Given the description of an element on the screen output the (x, y) to click on. 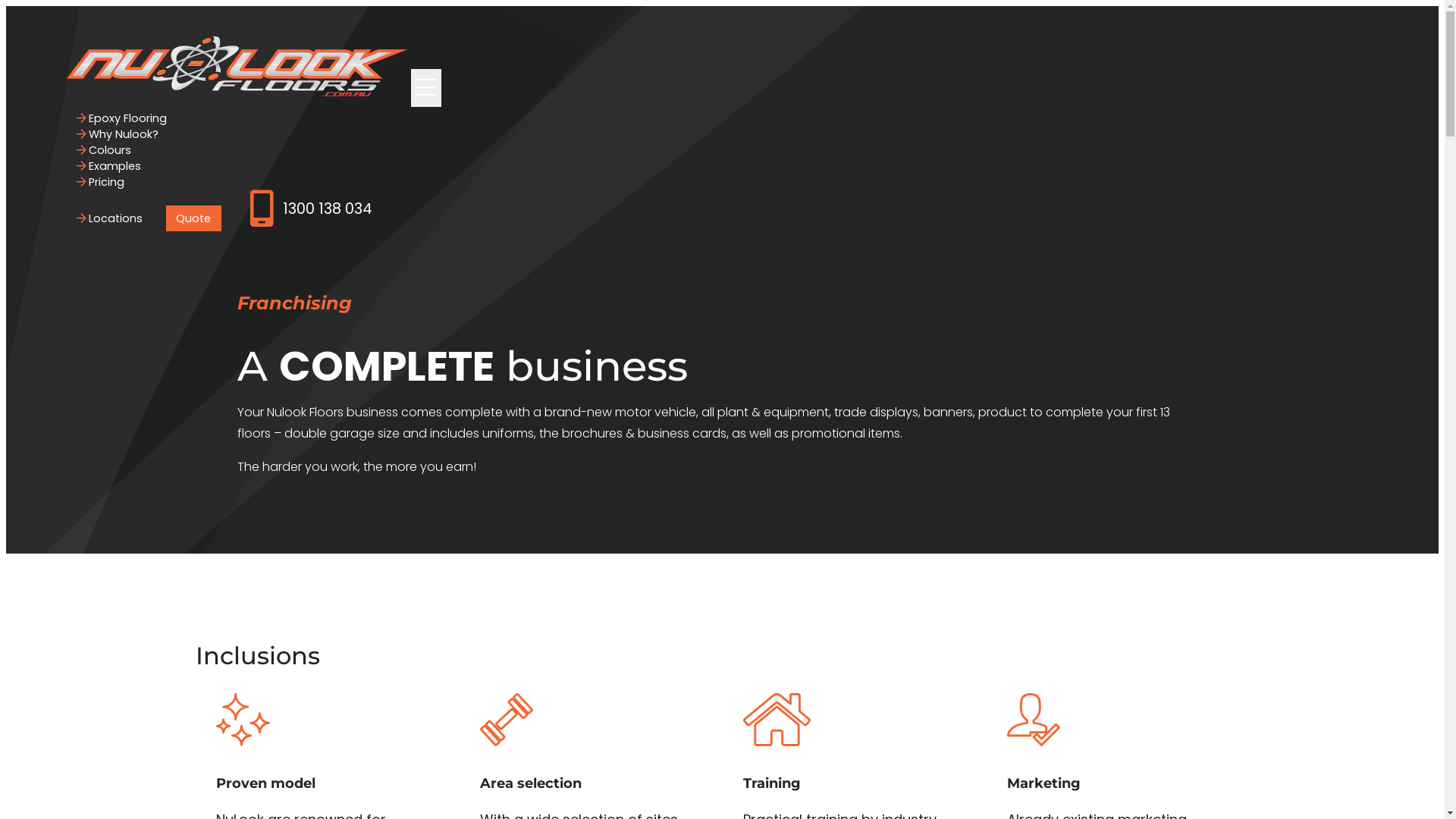
Pricing Element type: text (100, 181)
Examples Element type: text (108, 165)
Colours Element type: text (103, 149)
Epoxy Flooring Element type: text (121, 117)
Quote Element type: text (193, 218)
Locations Element type: text (109, 217)
1300 138 034 Element type: text (311, 208)
Why Nulook? Element type: text (117, 133)
